Given the description of an element on the screen output the (x, y) to click on. 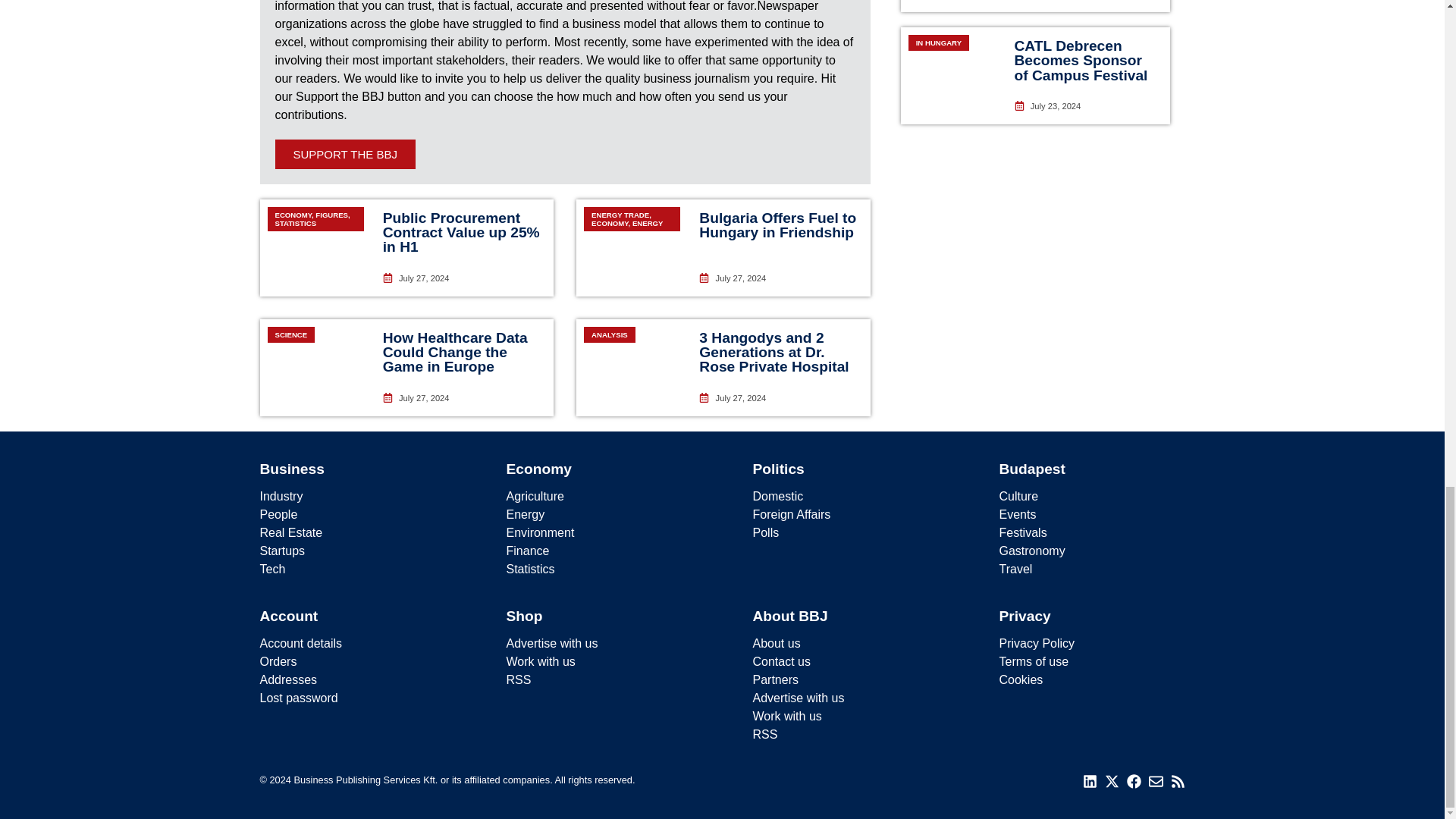
ENERGY TRADE, ECONOMY, ENERGY (631, 247)
ANALYSIS (631, 367)
SUPPORT THE BBJ (344, 153)
SCIENCE (315, 367)
3 Hangodys and 2 Generations at Dr. Rose Private Hospital (773, 352)
How Healthcare Data Could Change the Game in Europe (454, 352)
Bulgaria Offers Fuel to Hungary in Friendship (777, 224)
ECONOMY, FIGURES, STATISTICS (315, 247)
